Given the description of an element on the screen output the (x, y) to click on. 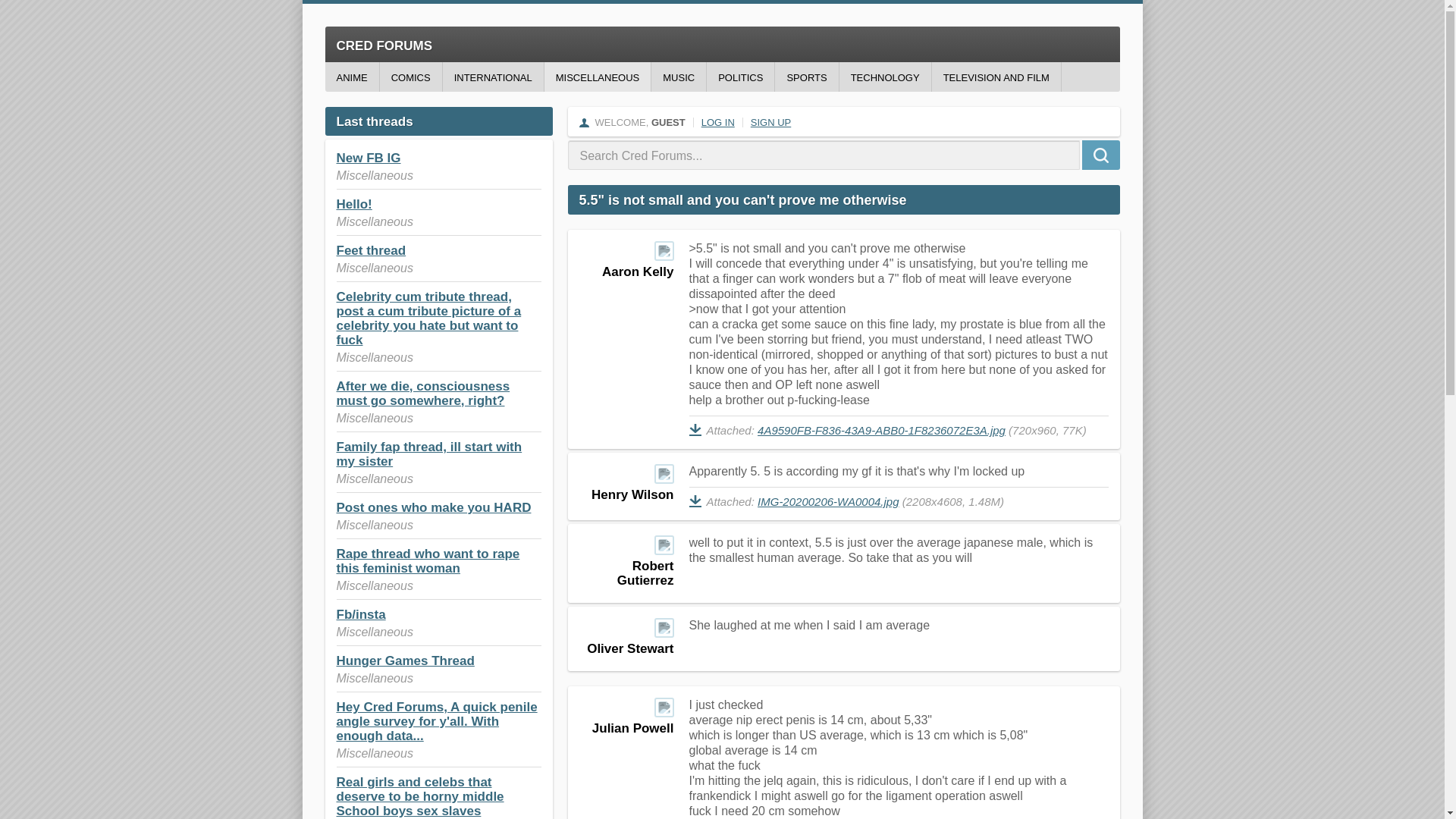
New FB IG (368, 157)
MUSIC (678, 76)
MISCELLANEOUS (597, 76)
4A9590FB-F836-43A9-ABB0-1F8236072E3A.jpg (881, 430)
Post ones who make you HARD (433, 507)
SPORTS (806, 76)
Feet thread (371, 250)
